Given the description of an element on the screen output the (x, y) to click on. 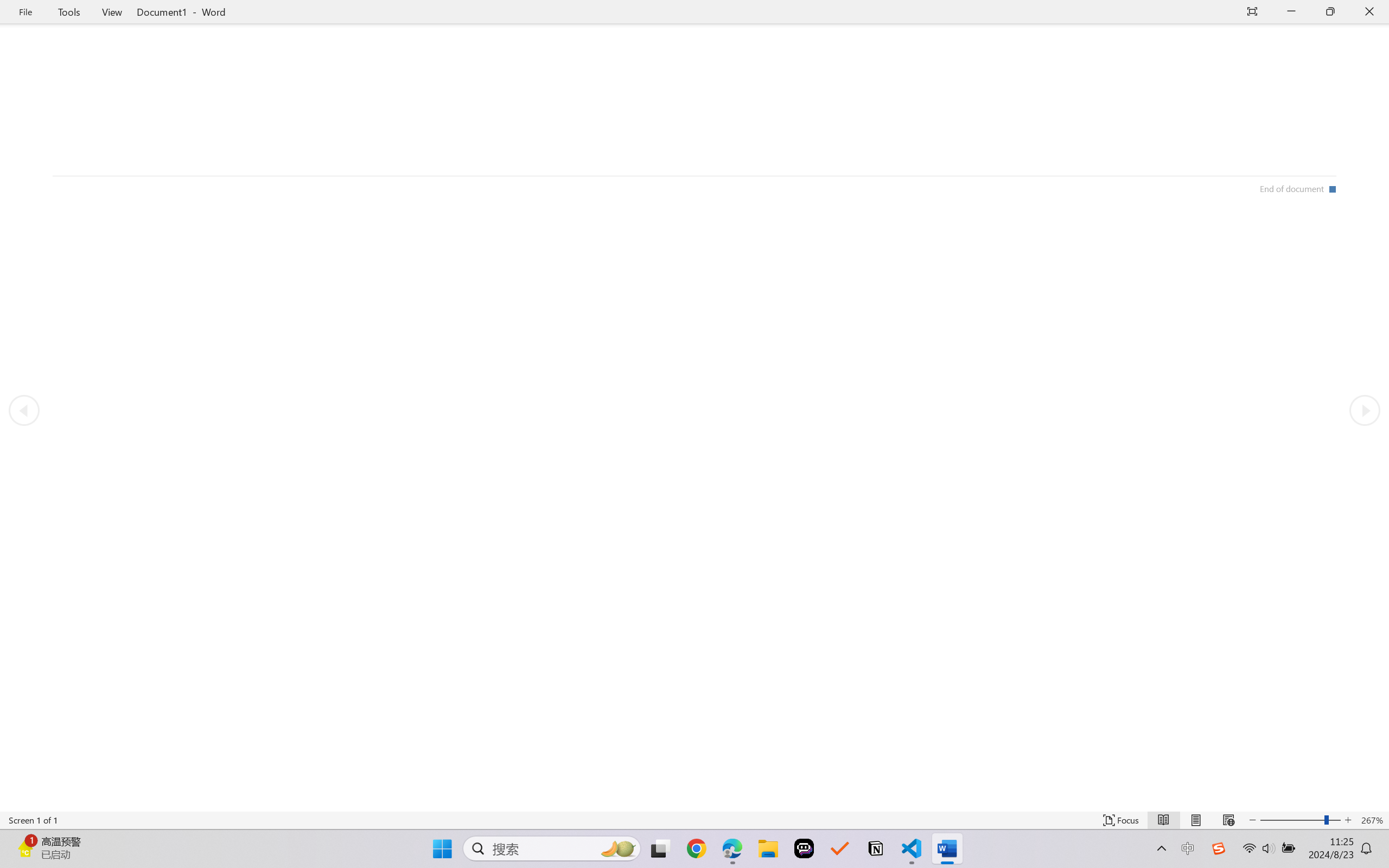
Text Size (1300, 819)
Tools (69, 11)
